Given the description of an element on the screen output the (x, y) to click on. 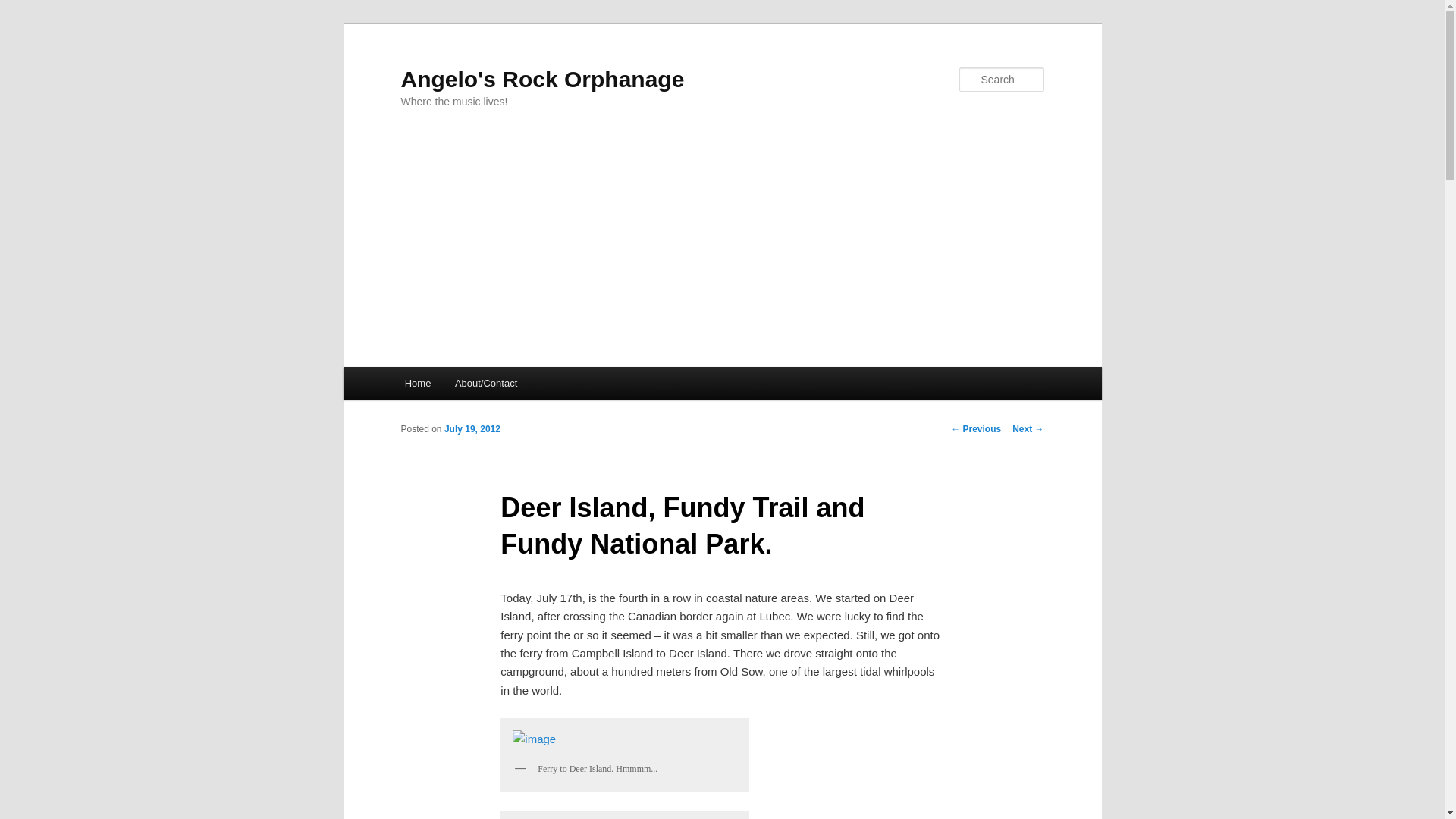
Search (24, 8)
1342667316572.jpg (624, 738)
5:11 pm (472, 429)
Home (417, 382)
Angelo's Rock Orphanage (542, 78)
July 19, 2012 (472, 429)
